Given the description of an element on the screen output the (x, y) to click on. 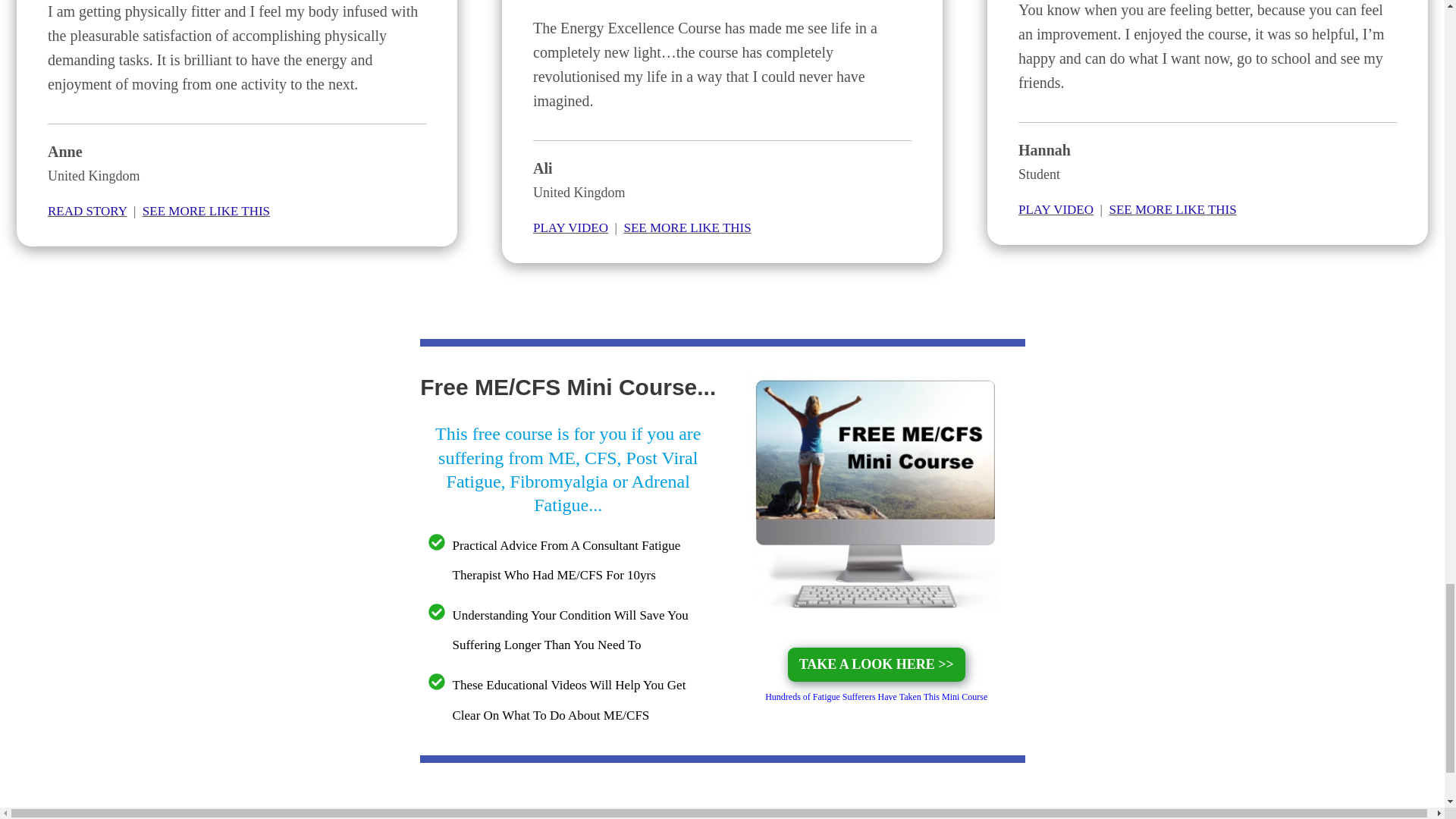
READ STORY (87, 210)
SEE MORE LIKE THIS (205, 210)
SEE MORE LIKE THIS (687, 227)
PLAY VIDEO (1055, 209)
SEE MORE LIKE THIS (1172, 209)
free-me-cfs-mini-course (876, 494)
PLAY VIDEO (570, 227)
